Given the description of an element on the screen output the (x, y) to click on. 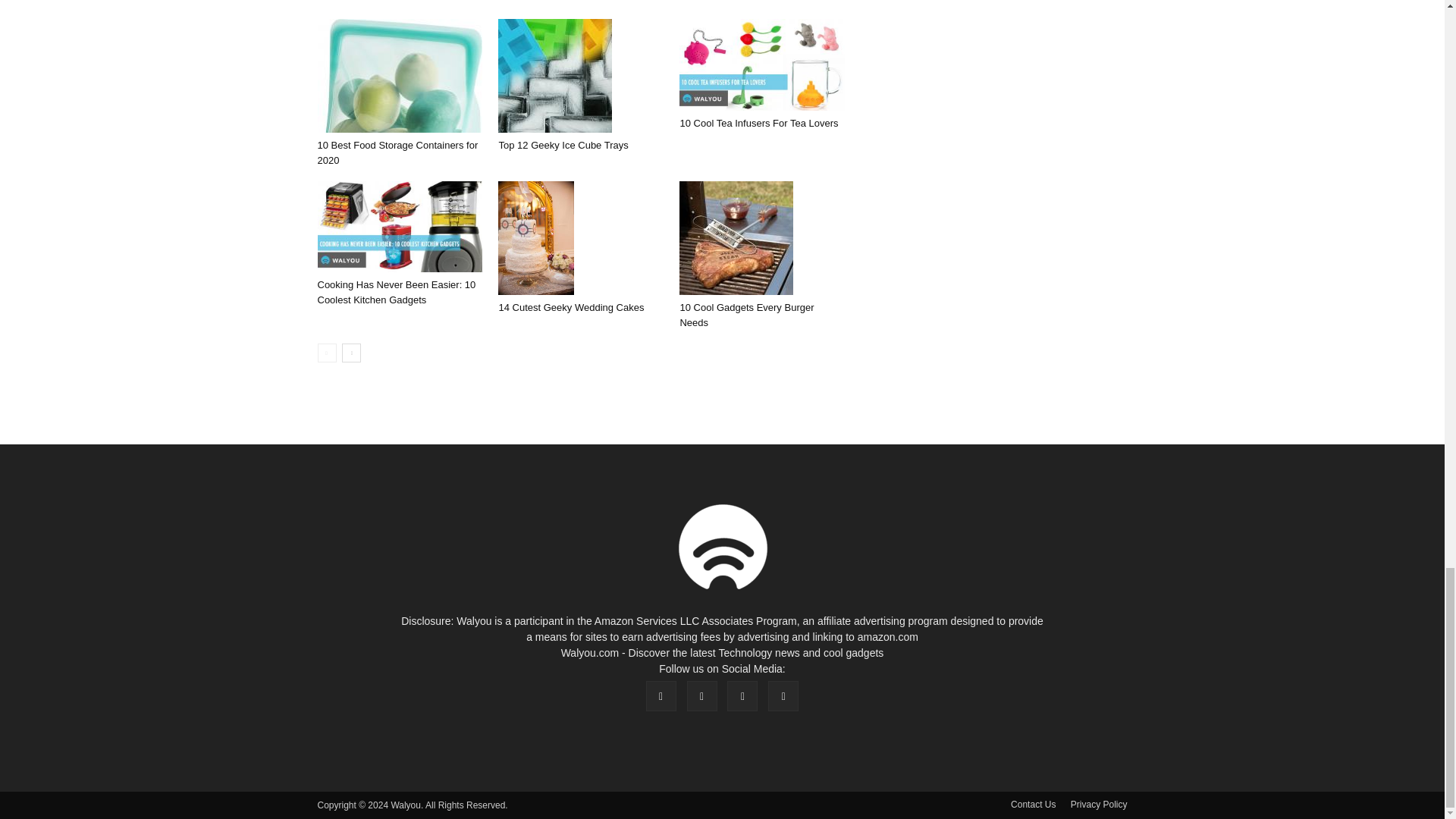
10 Best Food Storage Containers for 2020 (399, 75)
Top 12 Geeky Ice Cube Trays (580, 75)
10 Best Food Storage Containers for 2020 (397, 152)
